Given the description of an element on the screen output the (x, y) to click on. 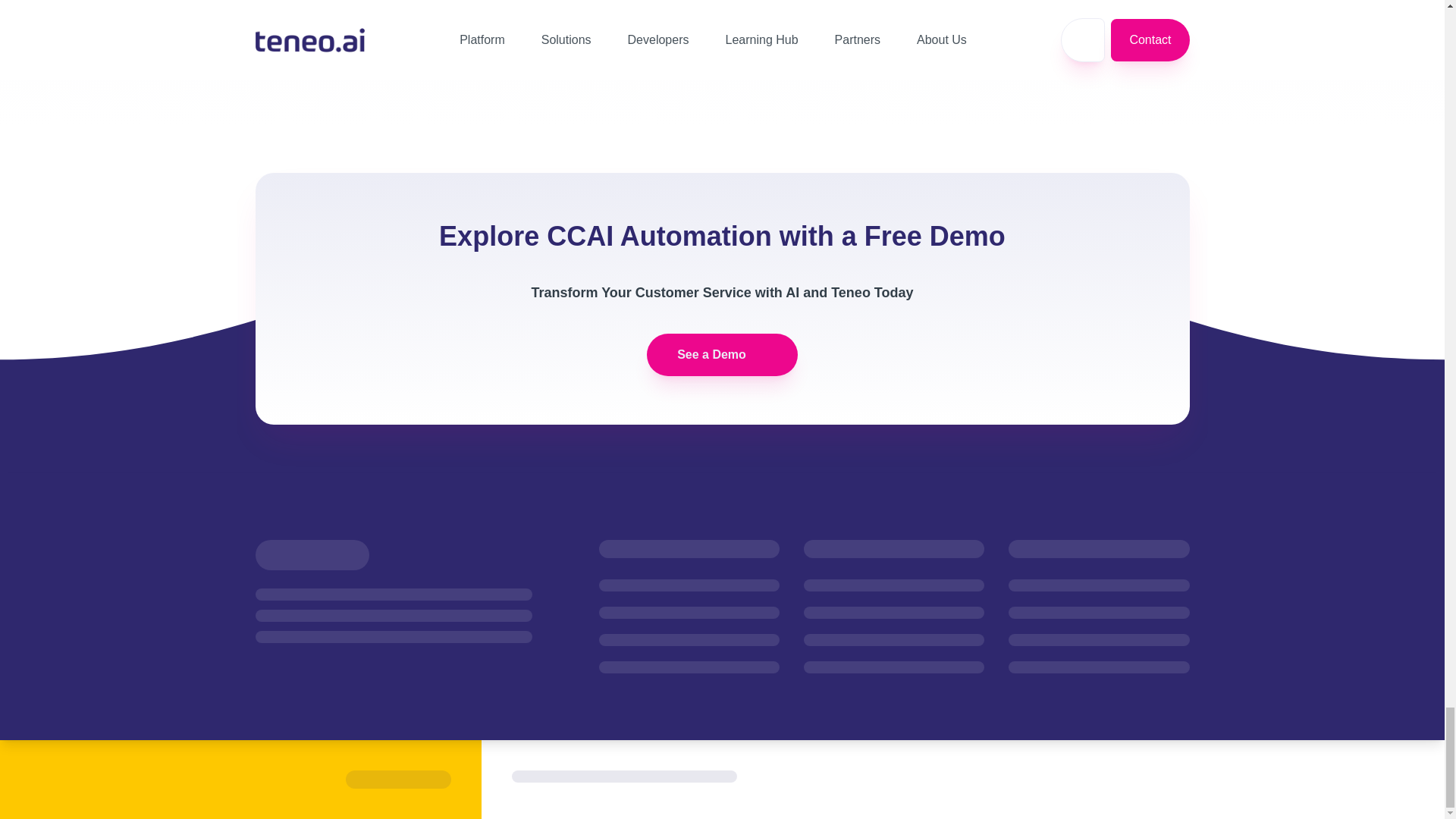
See a Demo (721, 354)
